Given the description of an element on the screen output the (x, y) to click on. 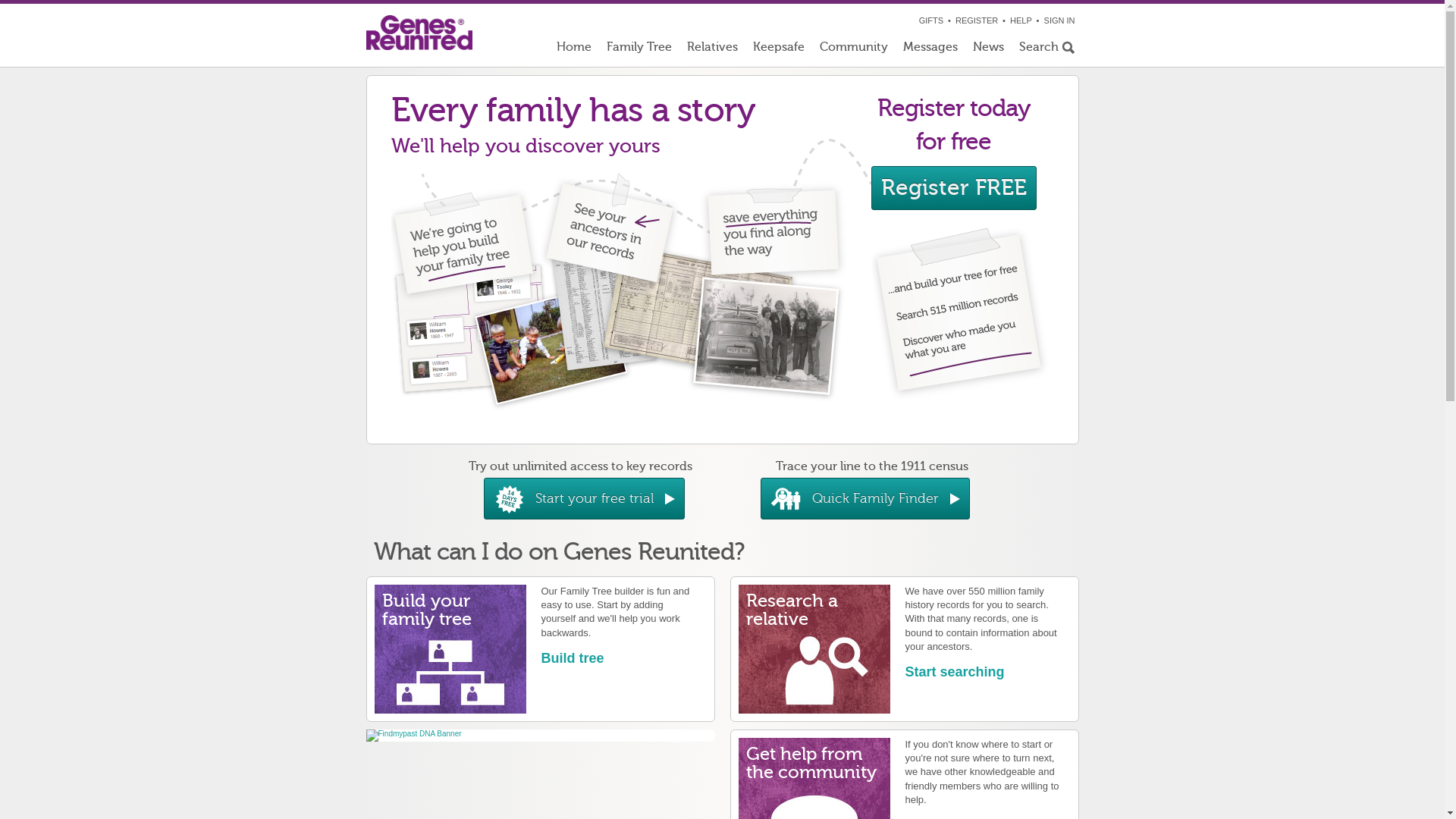
Keepsafe Element type: text (777, 50)
SIGN IN Element type: text (1059, 20)
Quick Family Finder Element type: text (864, 498)
Build tree Element type: text (572, 657)
Search Element type: text (1045, 50)
Messages Element type: text (929, 50)
Start your free trial Element type: text (583, 498)
Family Tree Element type: text (639, 50)
GIFTS Element type: text (931, 20)
News Element type: text (987, 50)
HELP Element type: text (1021, 20)
Register FREE Element type: text (952, 188)
Start searching Element type: text (954, 671)
Community Element type: text (852, 50)
REGISTER Element type: text (976, 20)
Home Element type: text (574, 50)
Relatives Element type: text (712, 50)
